Given the description of an element on the screen output the (x, y) to click on. 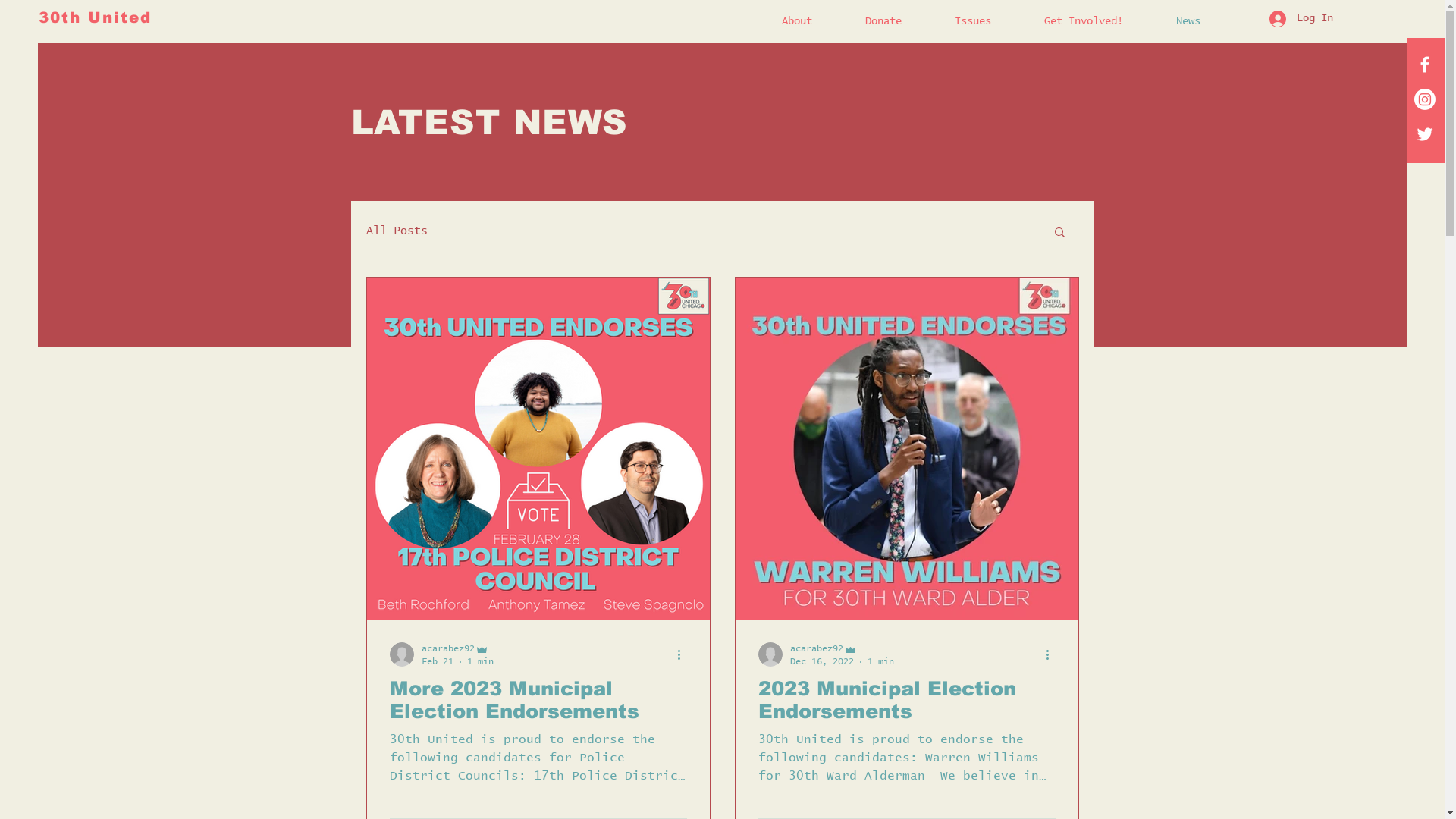
Donate Element type: text (898, 20)
acarabez92 Element type: text (842, 648)
acarabez92 Element type: text (457, 648)
Issues Element type: text (987, 20)
2023 Municipal Election Endorsements Element type: text (906, 699)
News Element type: text (1203, 20)
Get Involved! Element type: text (1098, 20)
30th United Element type: text (94, 17)
All Posts Element type: text (395, 231)
More 2023 Municipal Election Endorsements Element type: text (538, 699)
Log In Element type: text (1300, 18)
About Element type: text (811, 20)
